Given the description of an element on the screen output the (x, y) to click on. 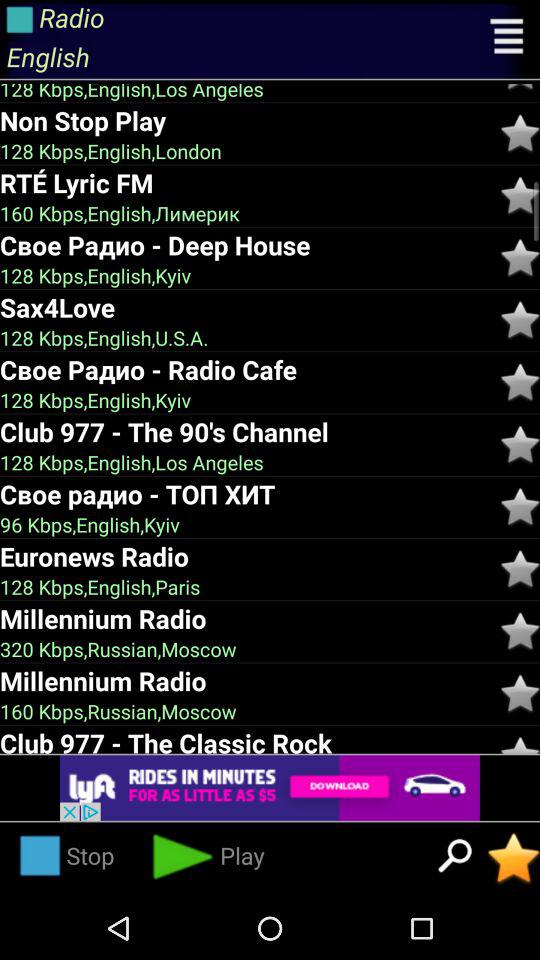
booklist the song (520, 693)
